Given the description of an element on the screen output the (x, y) to click on. 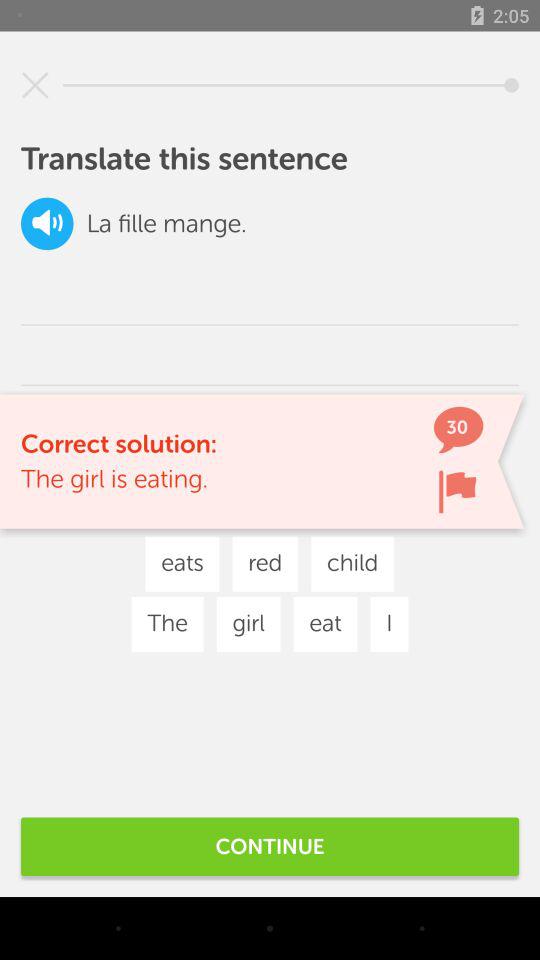
closing icon (35, 85)
